Given the description of an element on the screen output the (x, y) to click on. 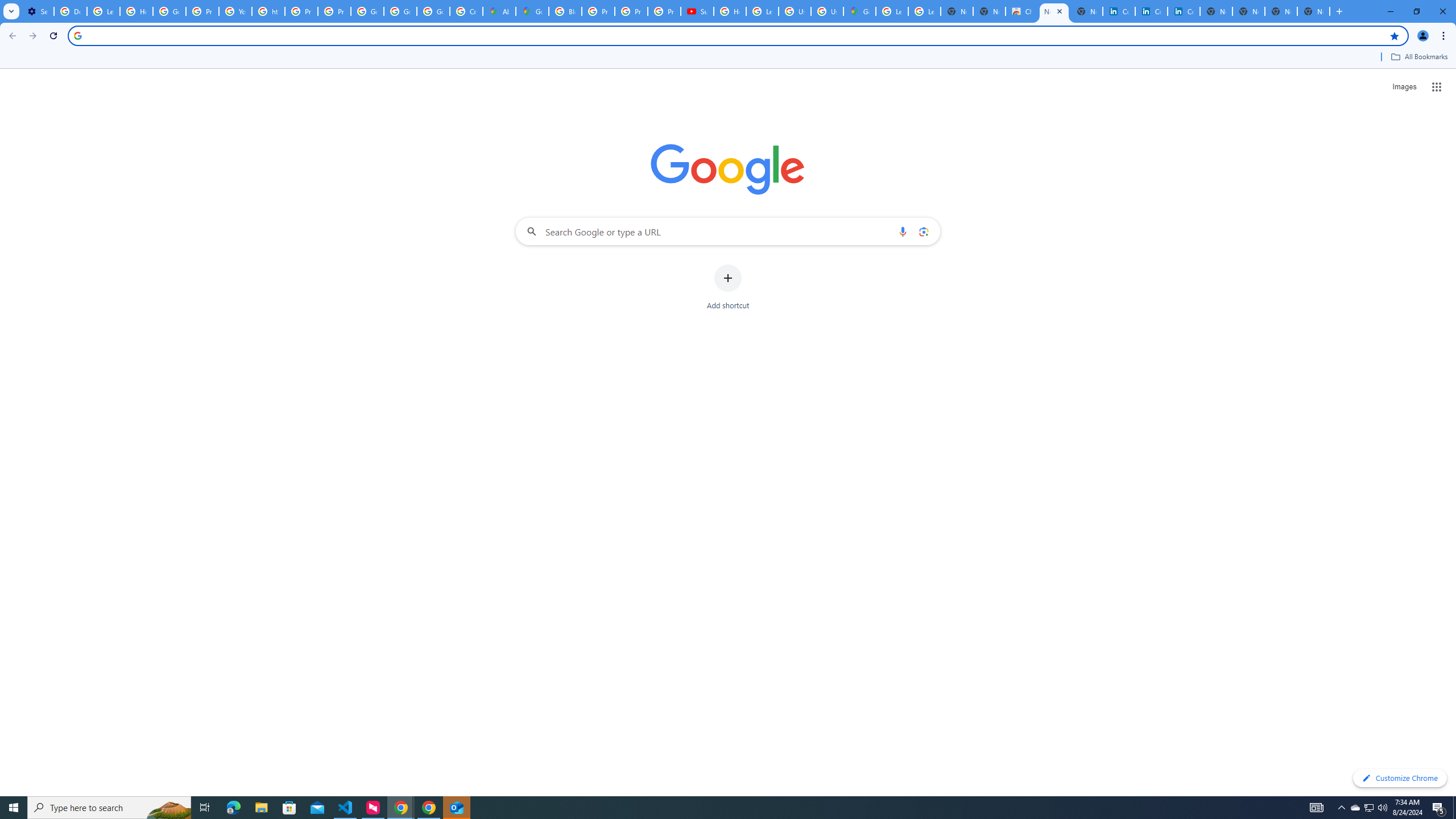
Settings - Customize profile (37, 11)
YouTube (235, 11)
Search Google or type a URL (727, 230)
Privacy Help Center - Policies Help (631, 11)
Customize Chrome (1399, 778)
Privacy Help Center - Policies Help (202, 11)
Delete photos & videos - Computer - Google Photos Help (70, 11)
Search by image (922, 230)
New Tab (1313, 11)
